Given the description of an element on the screen output the (x, y) to click on. 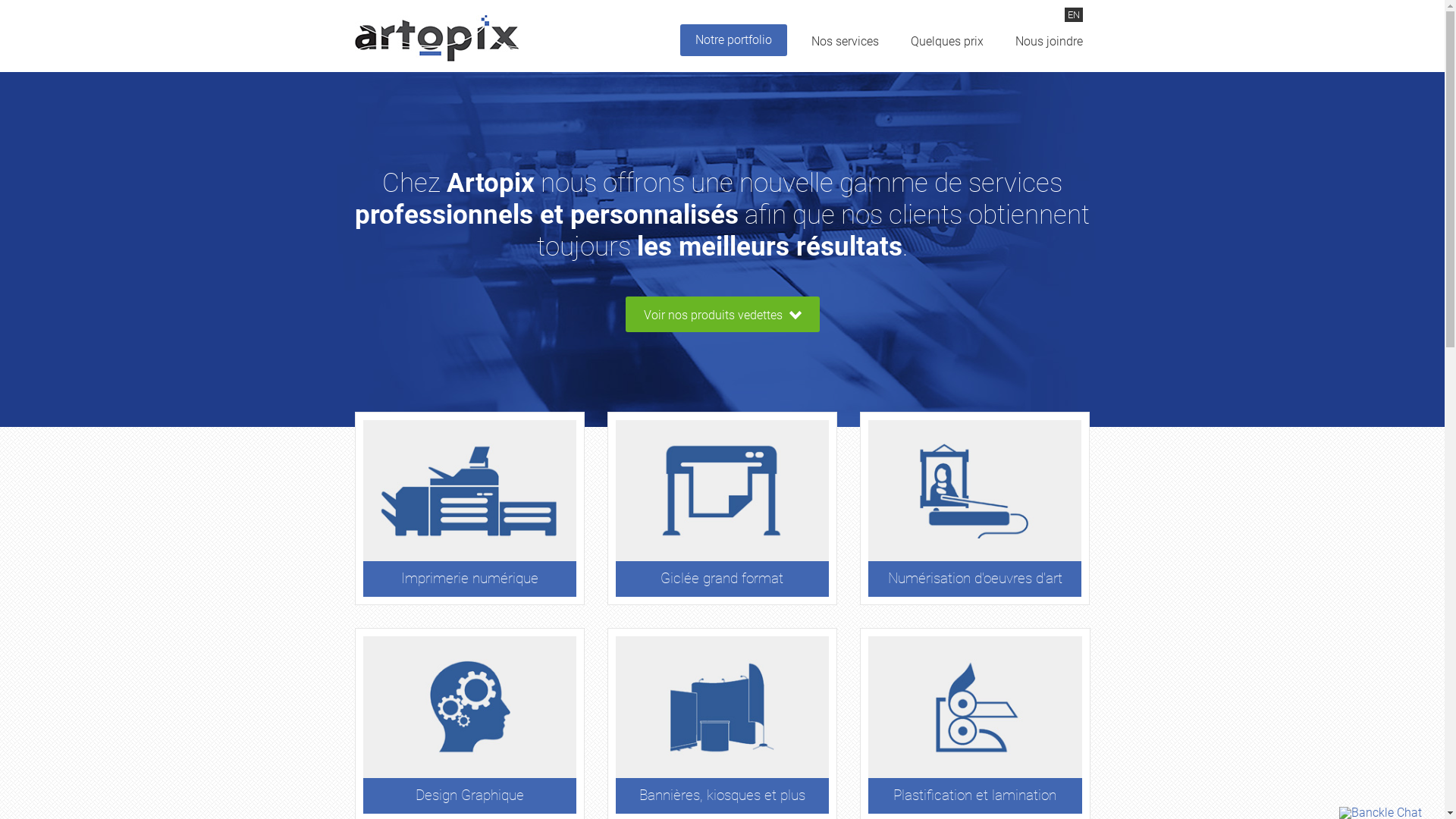
Notre portfolio Element type: text (732, 40)
Nos services Element type: text (844, 51)
Accueil Element type: hover (436, 37)
Voir nos produits vedettes navigatedown Element type: text (721, 314)
EN Element type: text (1073, 14)
Quelques prix Element type: text (946, 51)
Nous joindre Element type: text (1048, 51)
Voir nos produits vedettes navigatedown Element type: text (721, 314)
Aller au contenu principal Element type: text (67, 0)
